Given the description of an element on the screen output the (x, y) to click on. 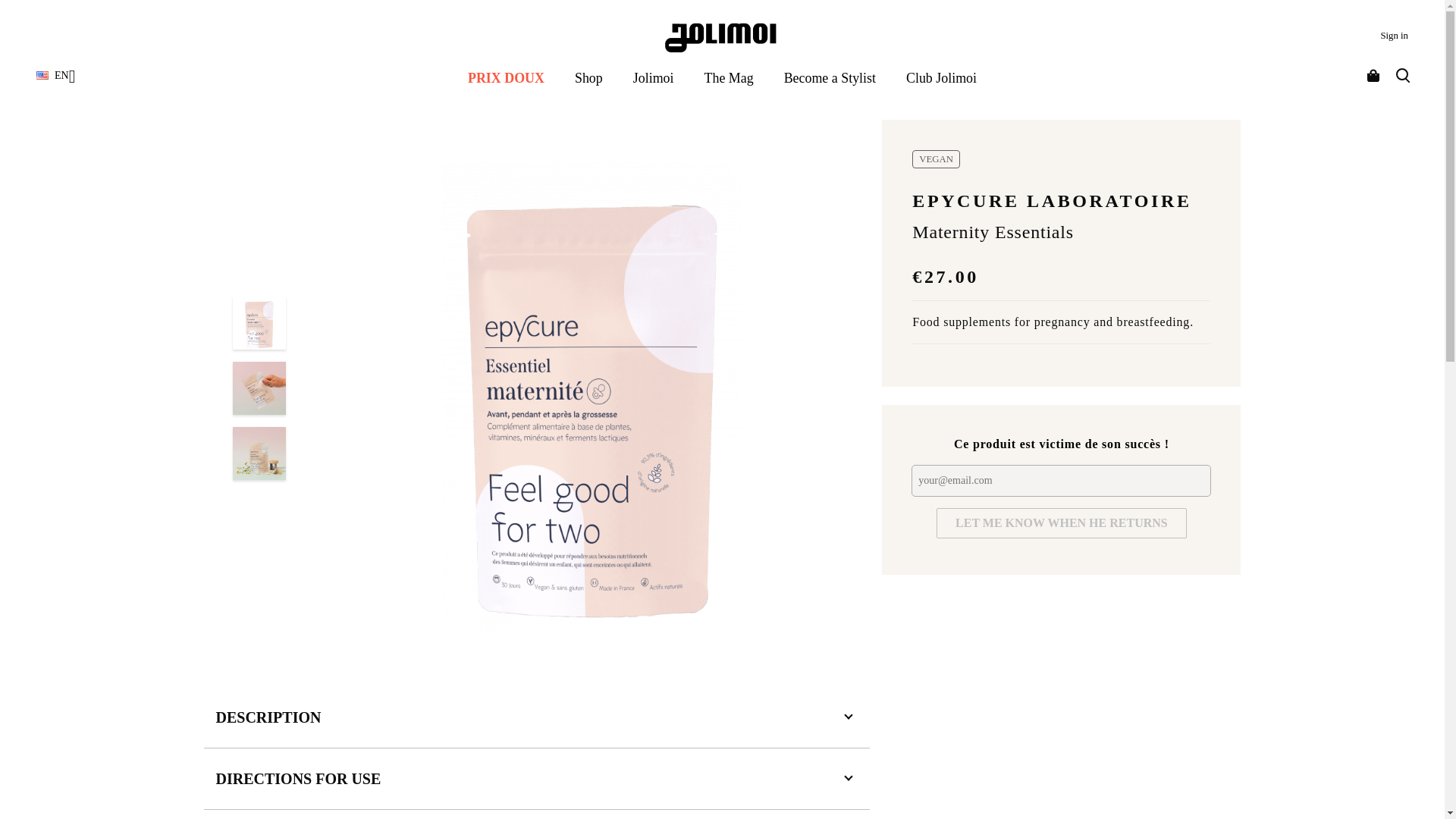
Log in to your customer account (1393, 35)
Shop (588, 77)
PRIX DOUX (505, 77)
